Given the description of an element on the screen output the (x, y) to click on. 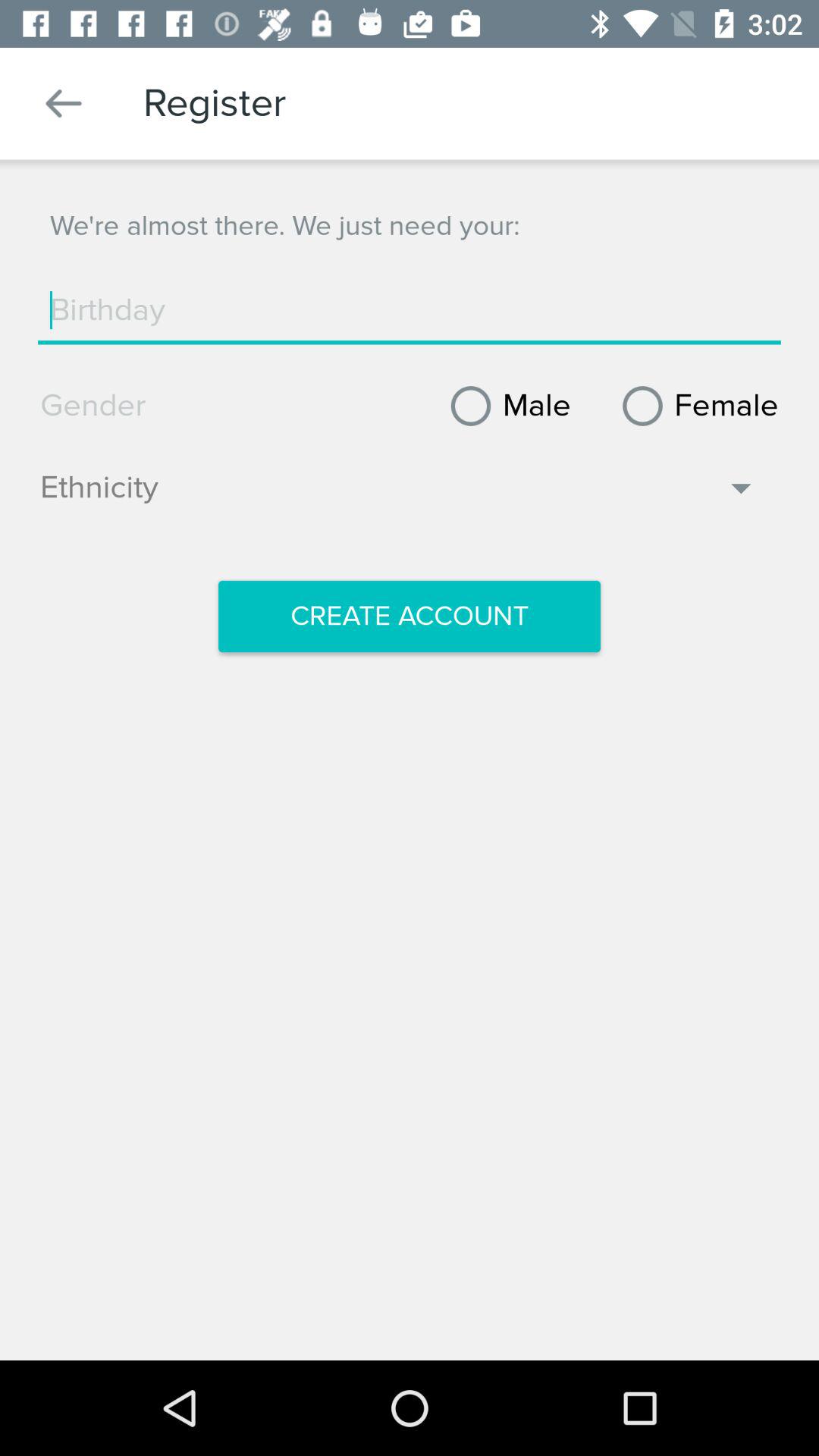
choose item next to the register item (63, 103)
